Given the description of an element on the screen output the (x, y) to click on. 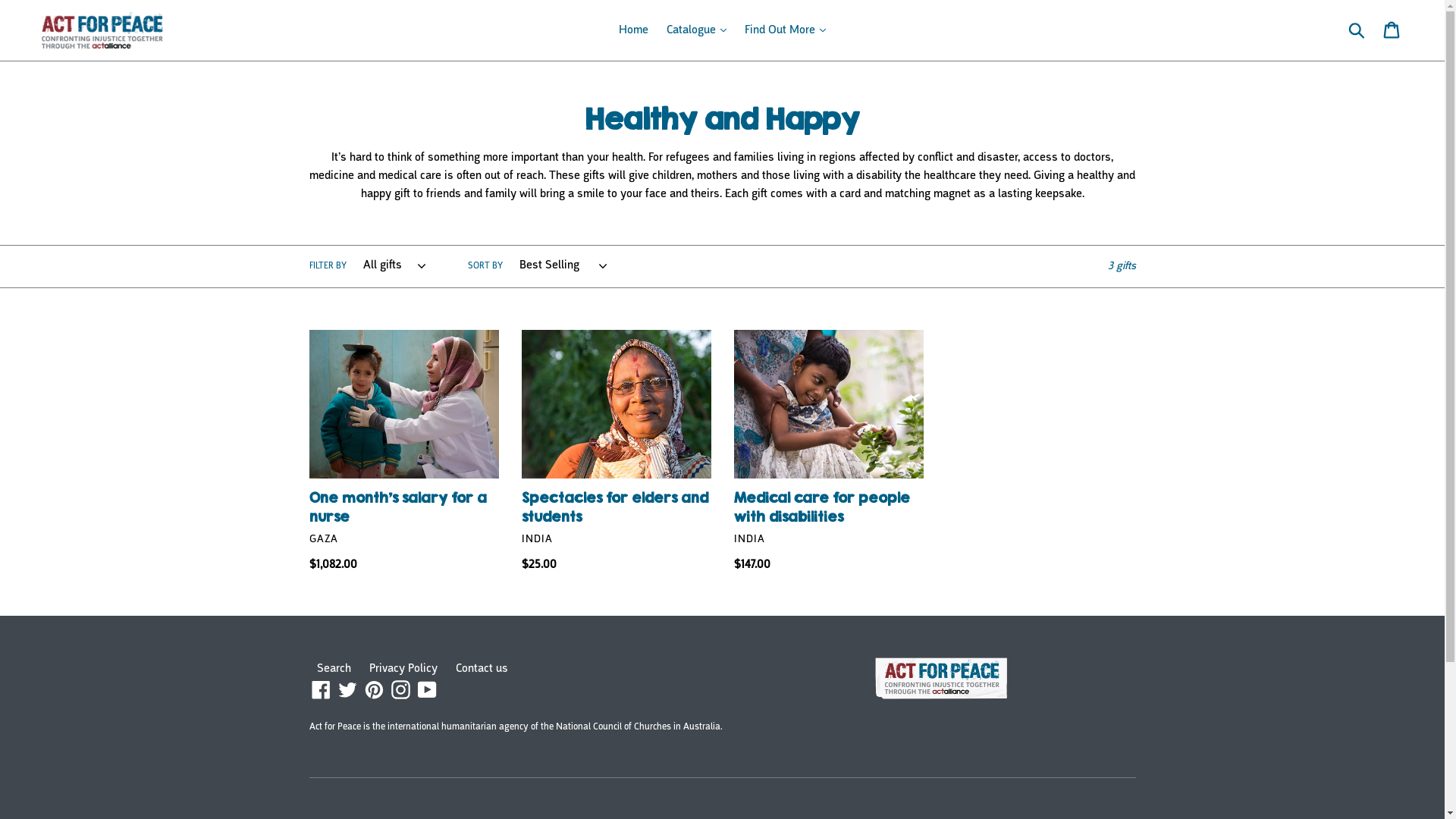
Facebook Element type: text (320, 689)
Search Element type: text (333, 668)
Instagram Element type: text (399, 689)
Contact us Element type: text (481, 668)
YouTube Element type: text (427, 689)
Medical care for people with disabilities Element type: text (828, 451)
Pinterest Element type: text (373, 689)
Privacy Policy Element type: text (402, 668)
Submit Element type: text (1357, 30)
Spectacles for elders and students Element type: text (616, 451)
Twitter Element type: text (346, 689)
Cart Element type: text (1392, 30)
Home Element type: text (633, 29)
